Given the description of an element on the screen output the (x, y) to click on. 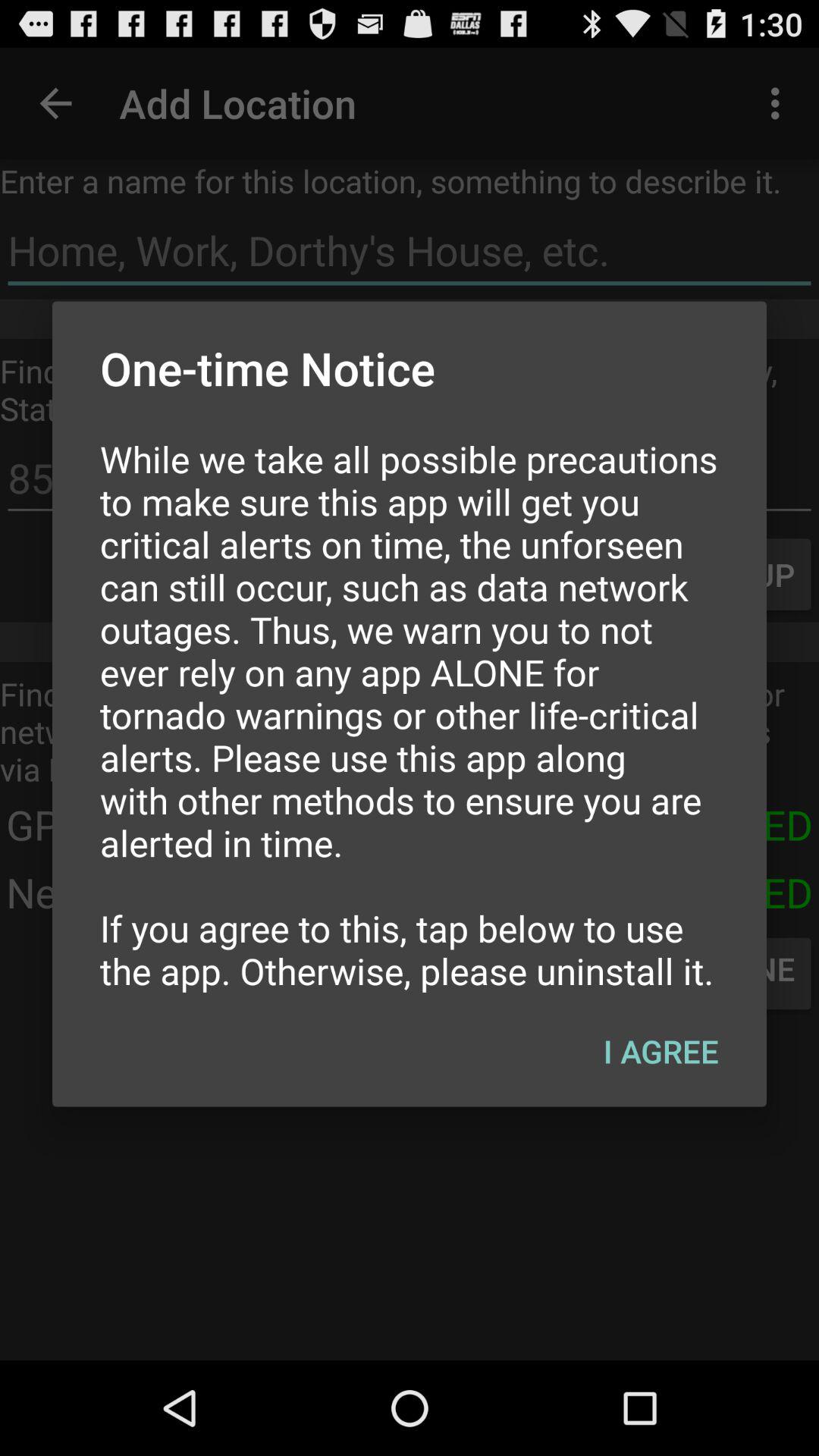
press item at the bottom right corner (660, 1050)
